Given the description of an element on the screen output the (x, y) to click on. 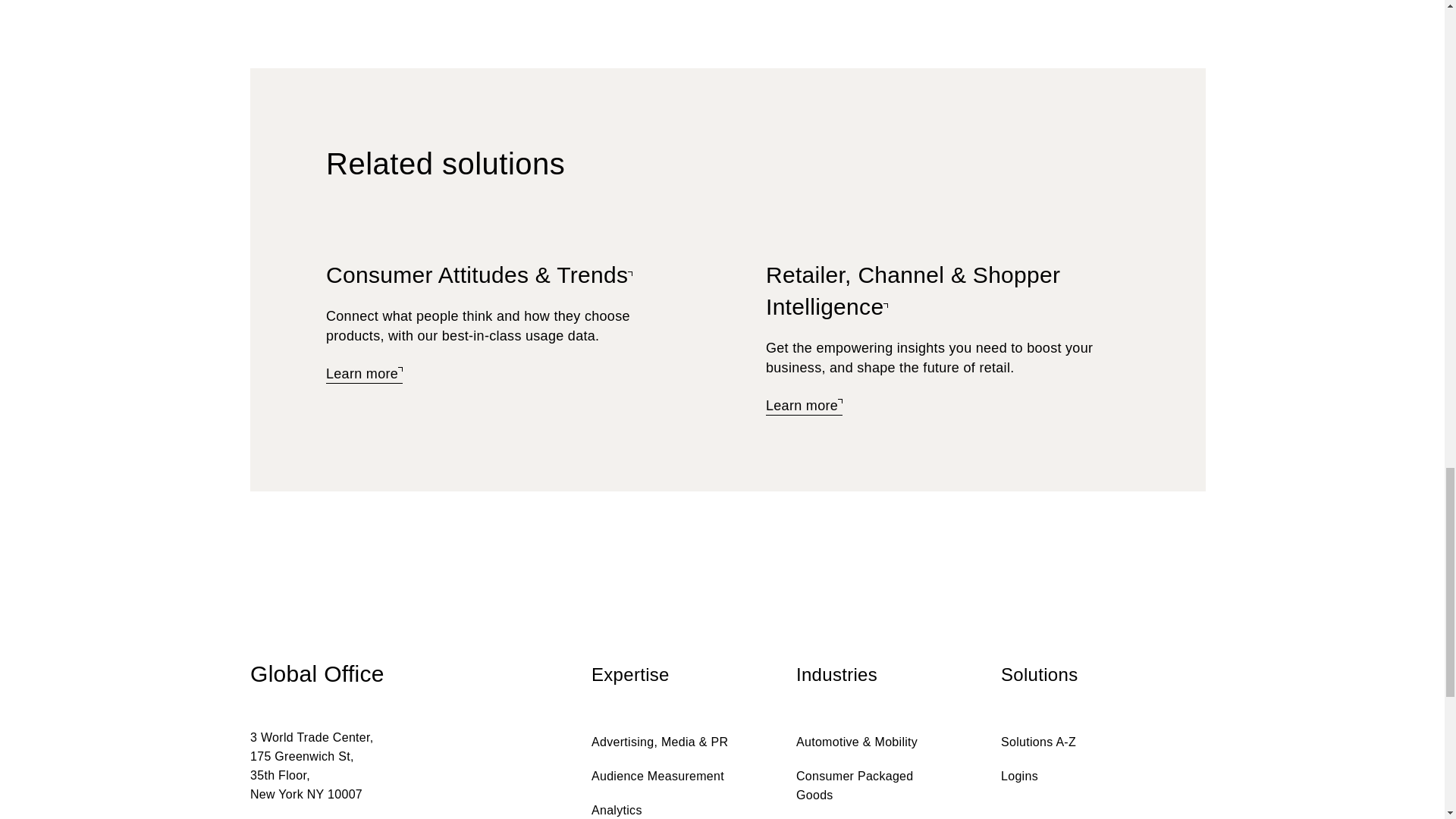
Consumer Attitudes and Trends (364, 375)
Retailer Channel Shopper Intelligence (912, 291)
Retailer Channel Shopper Intelligence (804, 406)
Consumer Attitudes and Trends (478, 275)
